Given the description of an element on the screen output the (x, y) to click on. 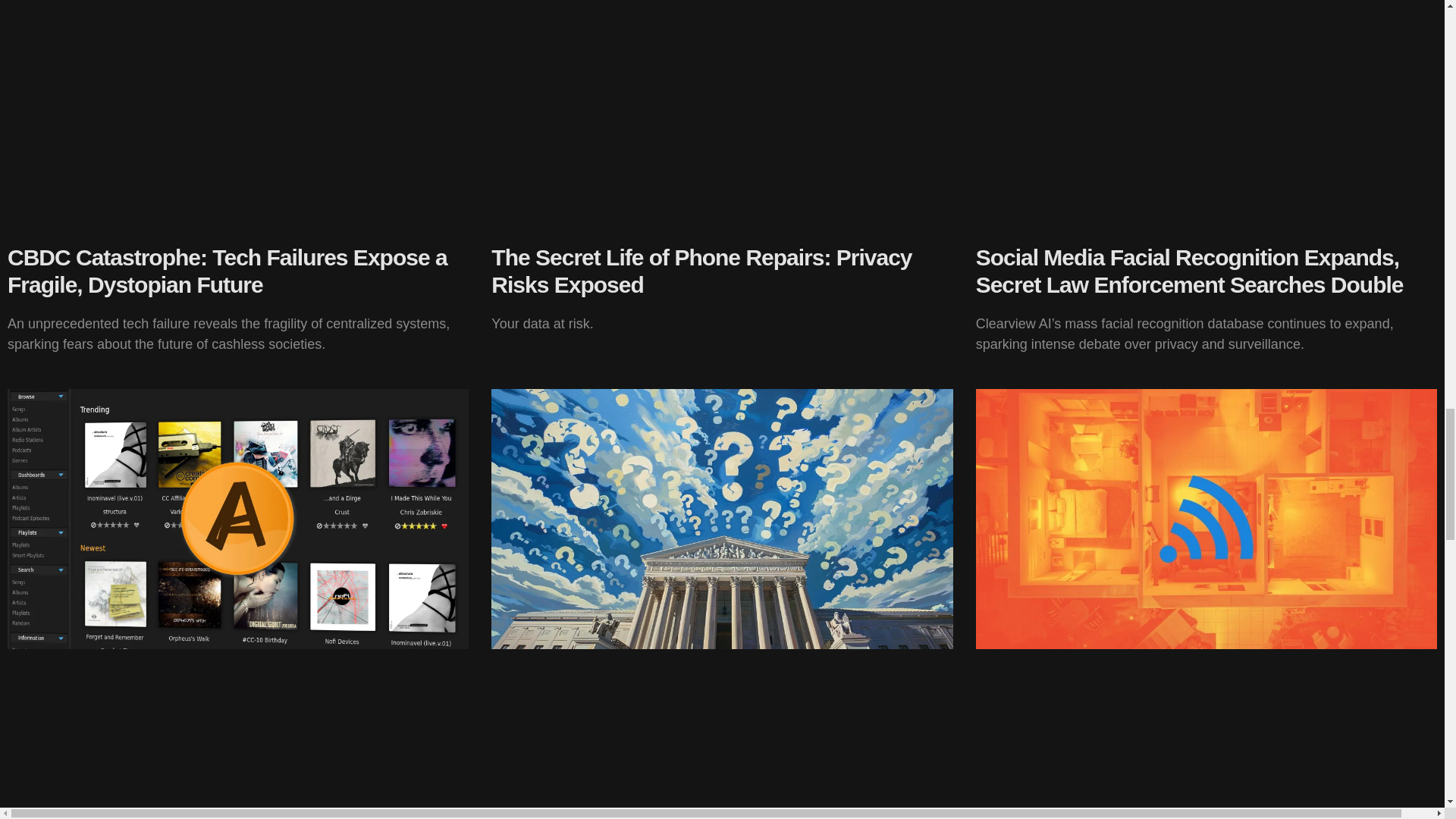
The Secret Life of Phone Repairs: Privacy Risks Exposed (701, 270)
